Given the description of an element on the screen output the (x, y) to click on. 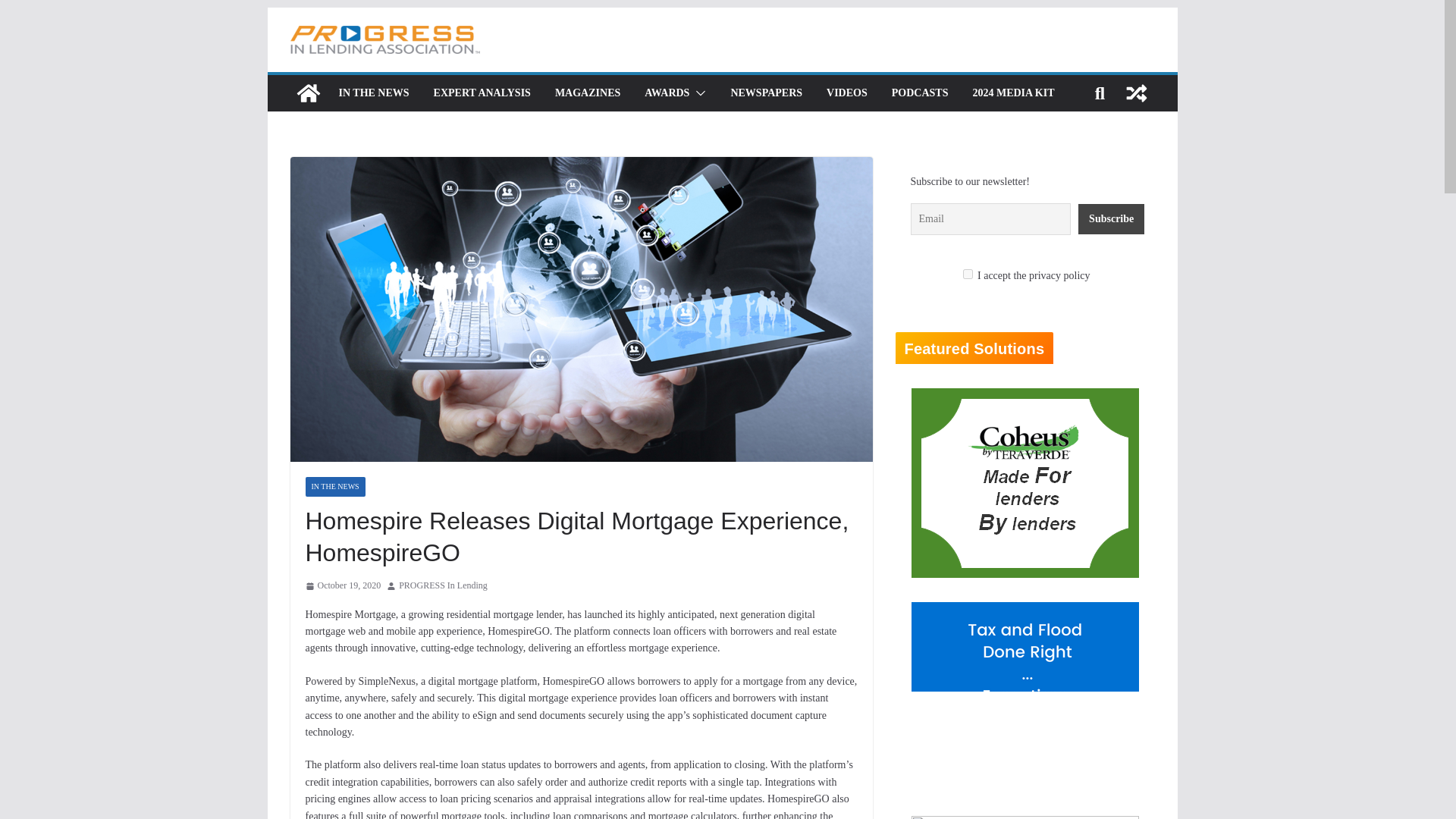
EXPERT ANALYSIS (482, 93)
PROGRESS In Lending (442, 586)
MAGAZINES (587, 93)
4:41 pm (342, 586)
IN THE NEWS (373, 93)
IN THE NEWS (334, 486)
Subscribe (1111, 218)
PODCASTS (920, 93)
October 19, 2020 (342, 586)
View a random post (1136, 93)
